Given the description of an element on the screen output the (x, y) to click on. 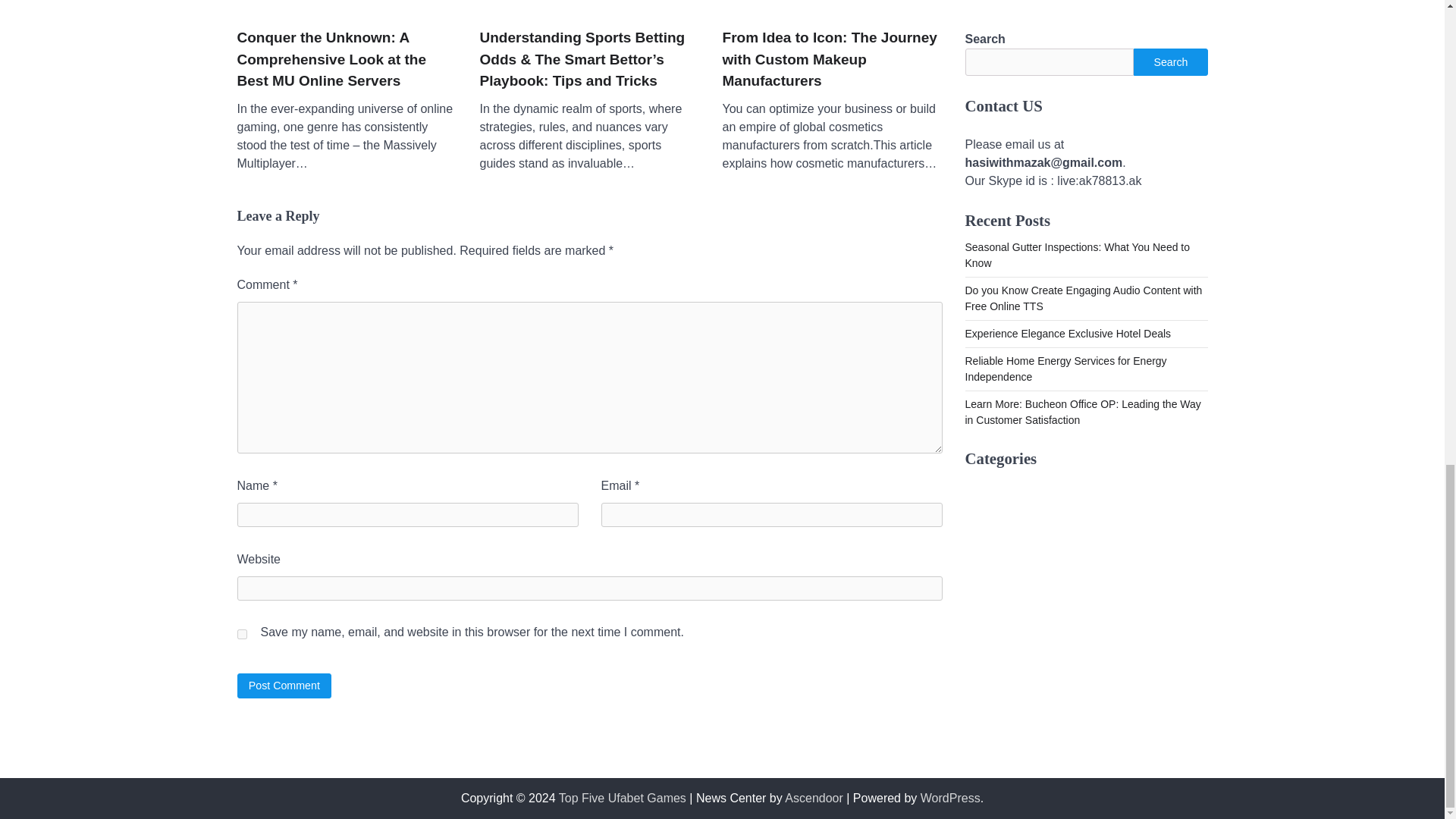
Post Comment (283, 685)
Post Comment (283, 685)
yes (240, 634)
